Given the description of an element on the screen output the (x, y) to click on. 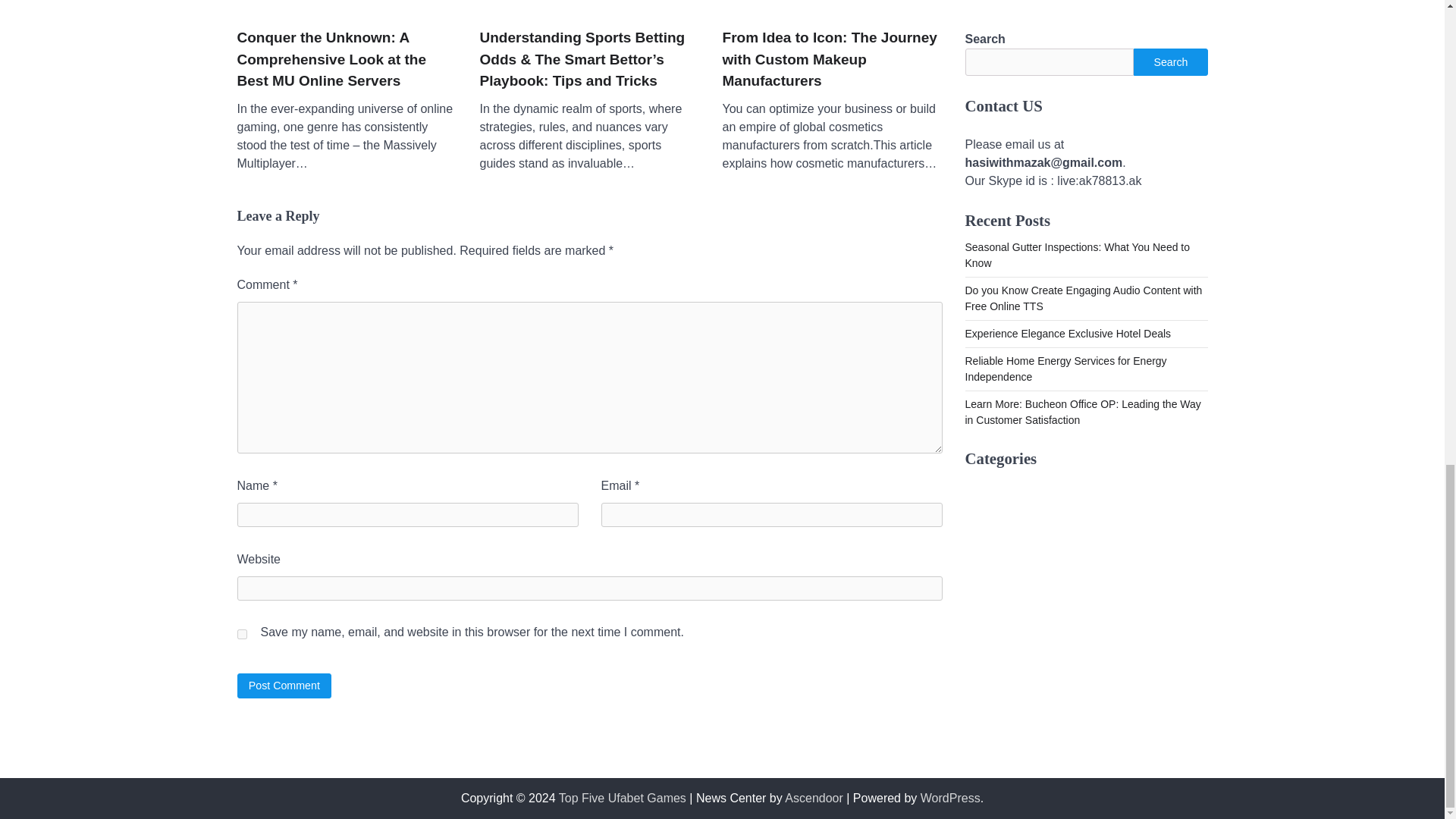
Post Comment (283, 685)
Post Comment (283, 685)
yes (240, 634)
